Given the description of an element on the screen output the (x, y) to click on. 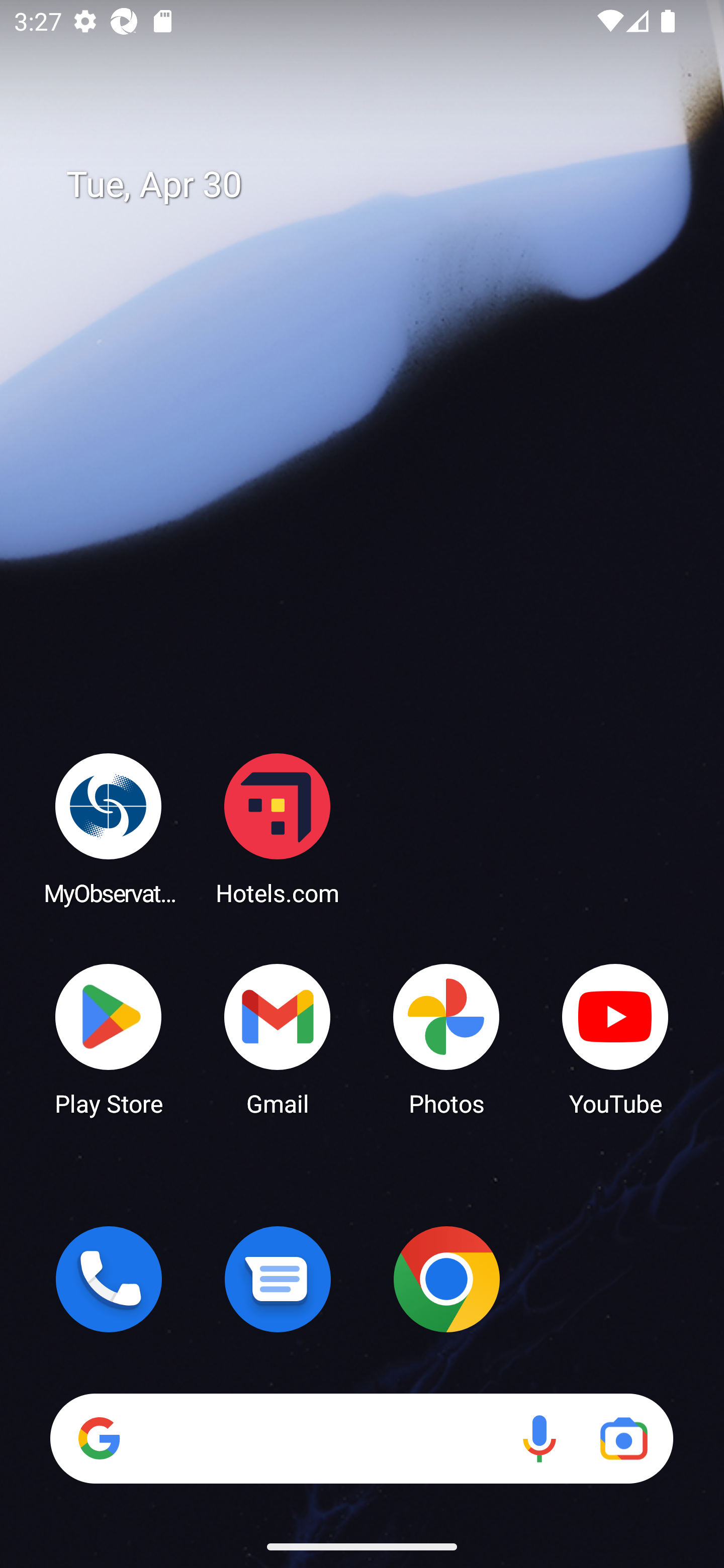
Tue, Apr 30 (375, 184)
MyObservatory (108, 828)
Hotels.com (277, 828)
Play Store (108, 1038)
Gmail (277, 1038)
Photos (445, 1038)
YouTube (615, 1038)
Phone (108, 1279)
Messages (277, 1279)
Chrome (446, 1279)
Voice search (539, 1438)
Google Lens (623, 1438)
